Given the description of an element on the screen output the (x, y) to click on. 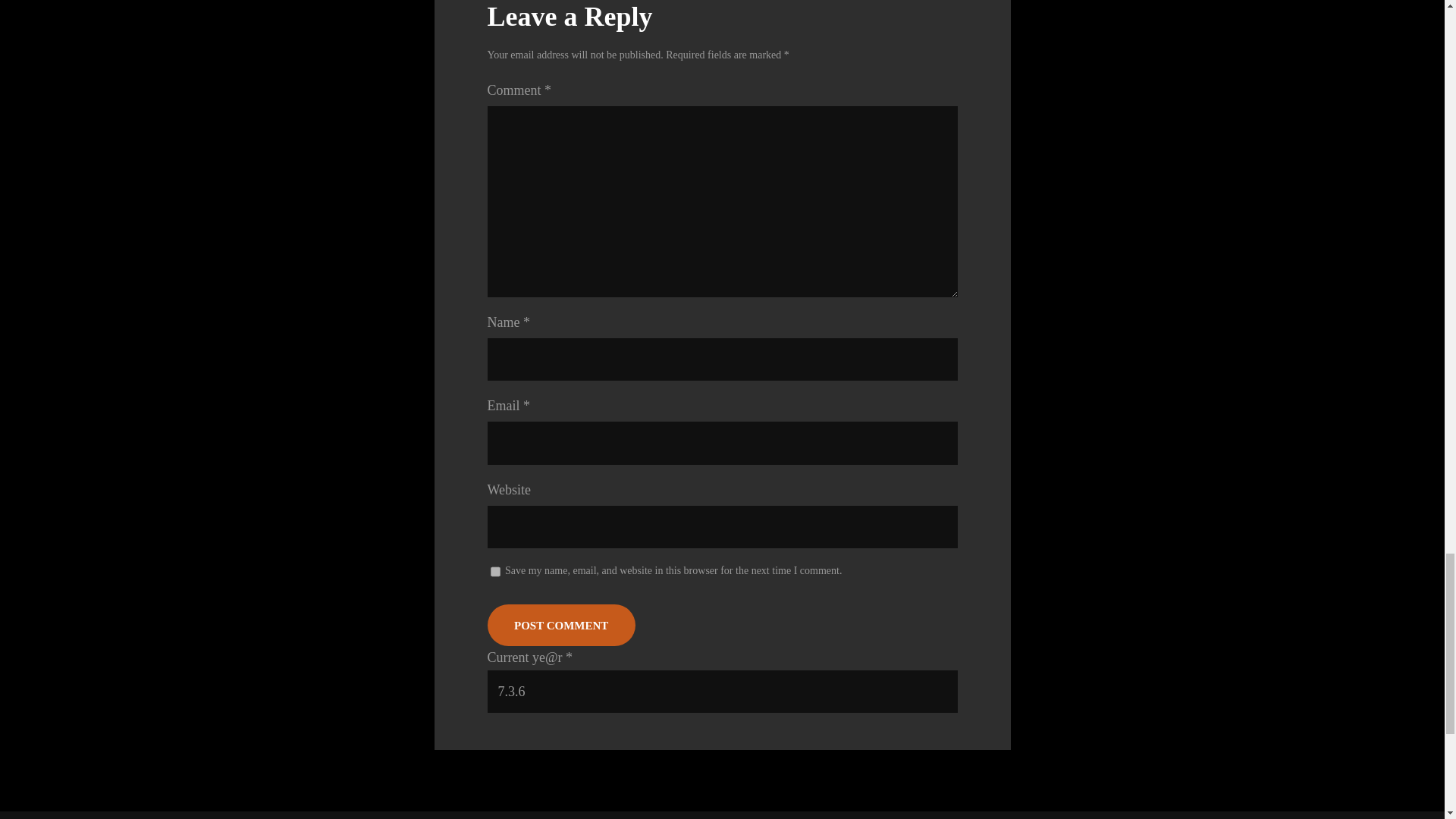
7.3.6 (721, 691)
Post Comment (560, 625)
Post Comment (560, 625)
